Given the description of an element on the screen output the (x, y) to click on. 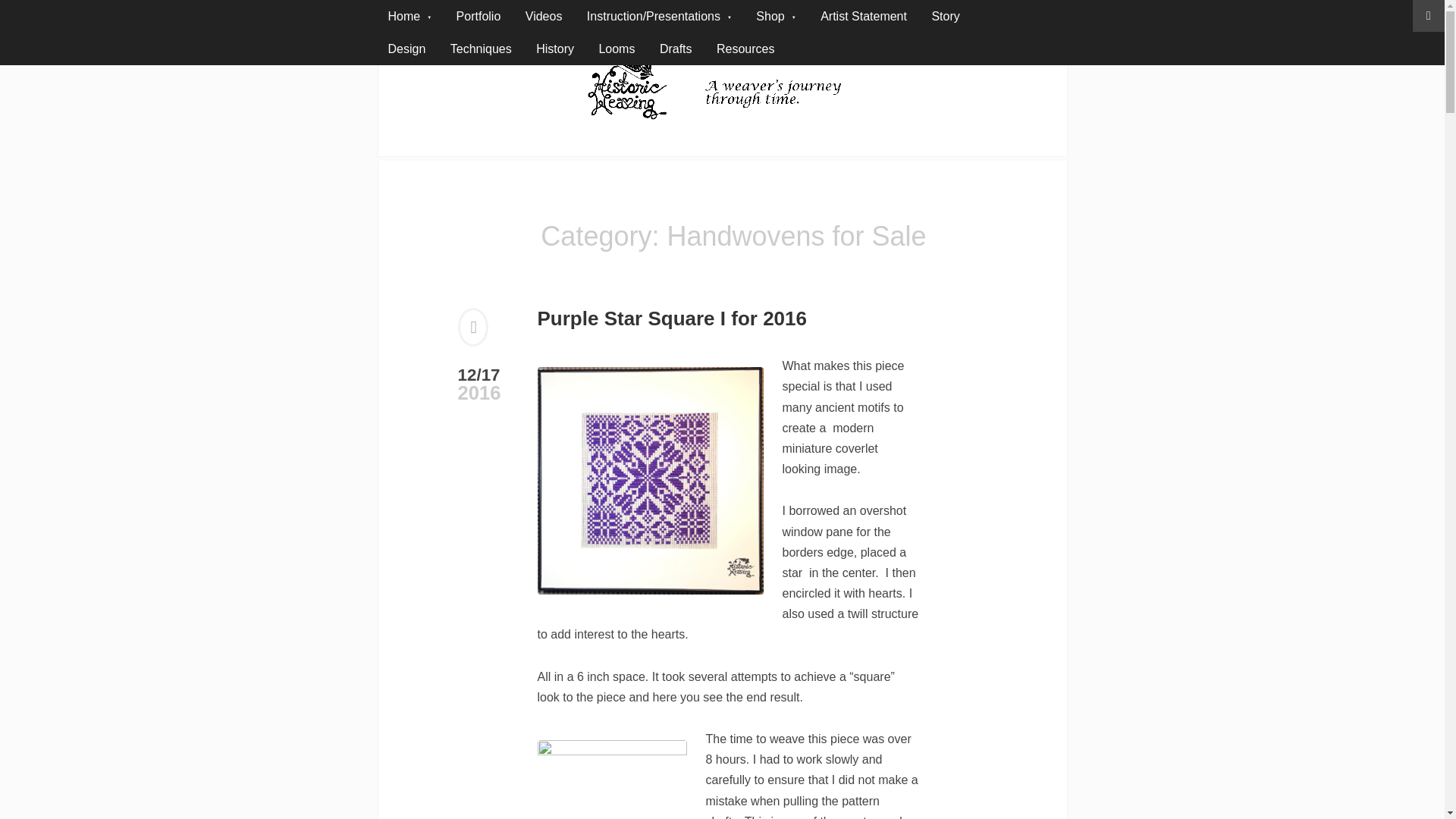
Videos (544, 16)
Artist Statement (863, 16)
Looms (616, 48)
History (555, 48)
Shop (775, 16)
Story (944, 16)
Design (406, 48)
Purple Star Square I for 2016 (671, 318)
Drafts (676, 48)
Portfolio (478, 16)
Home (409, 16)
Techniques (480, 48)
Historic Weaving (548, 147)
Resources (745, 48)
Historic Weaving (548, 147)
